Given the description of an element on the screen output the (x, y) to click on. 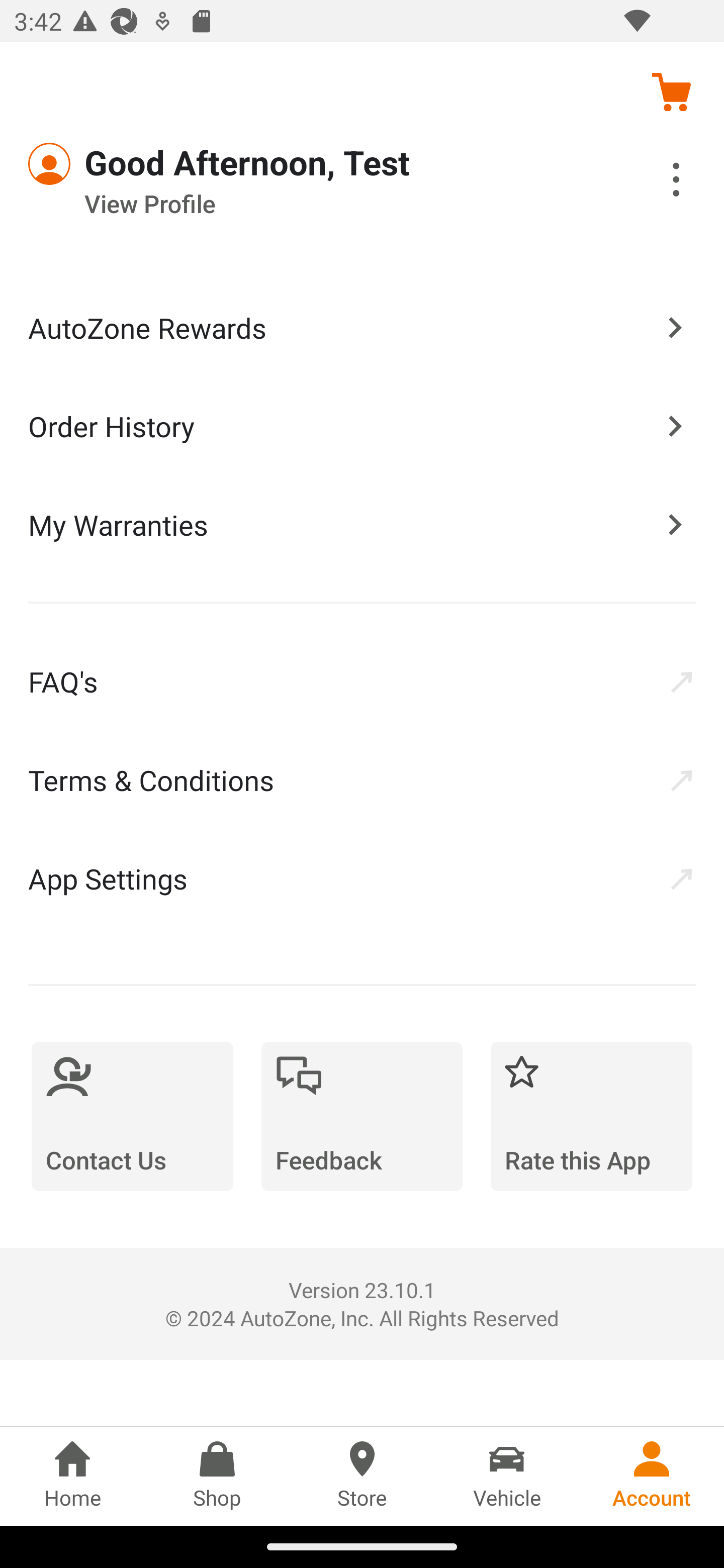
Cart, no items  (670, 91)
Good  (100, 163)
︙ (654, 182)
View Profile (306, 203)
AutoZone Rewards  (361, 327)
Order History  (361, 425)
My Warranties  (361, 524)
FAQ's  (361, 680)
Terms & Conditions  (361, 779)
App Settings  (361, 878)
Contact Us (132, 1116)
Feedback (361, 1116)
Rate this App (591, 1116)
Home (72, 1475)
Shop (216, 1475)
Store (361, 1475)
Vehicle (506, 1475)
Account (651, 1475)
